Given the description of an element on the screen output the (x, y) to click on. 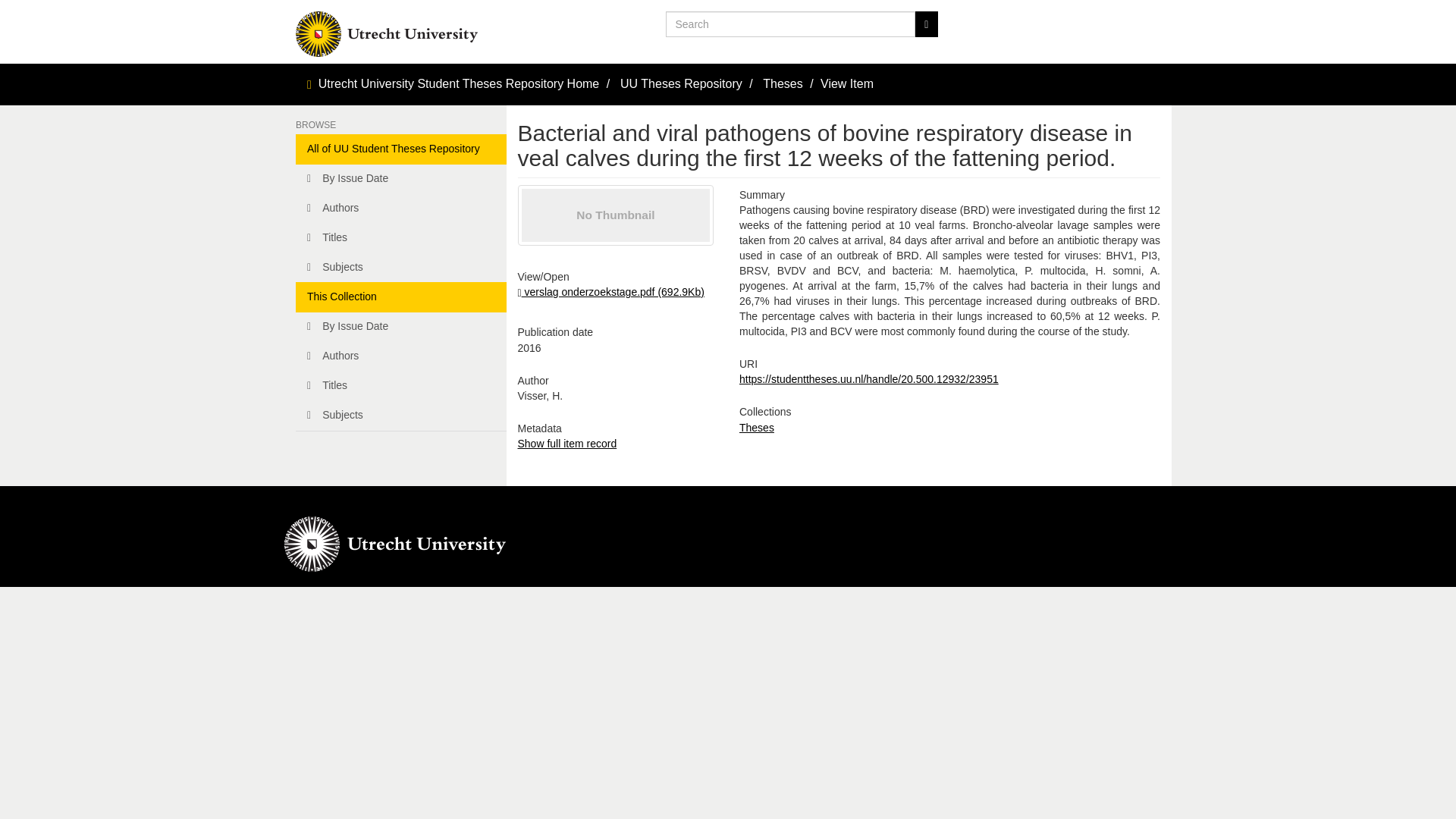
Subjects (400, 415)
By Issue Date (400, 178)
UU Theses Repository (681, 83)
Show full item record (565, 443)
Go (925, 23)
Titles (400, 386)
Authors (400, 208)
Theses (756, 427)
Theses (782, 83)
This Collection (400, 296)
